Given the description of an element on the screen output the (x, y) to click on. 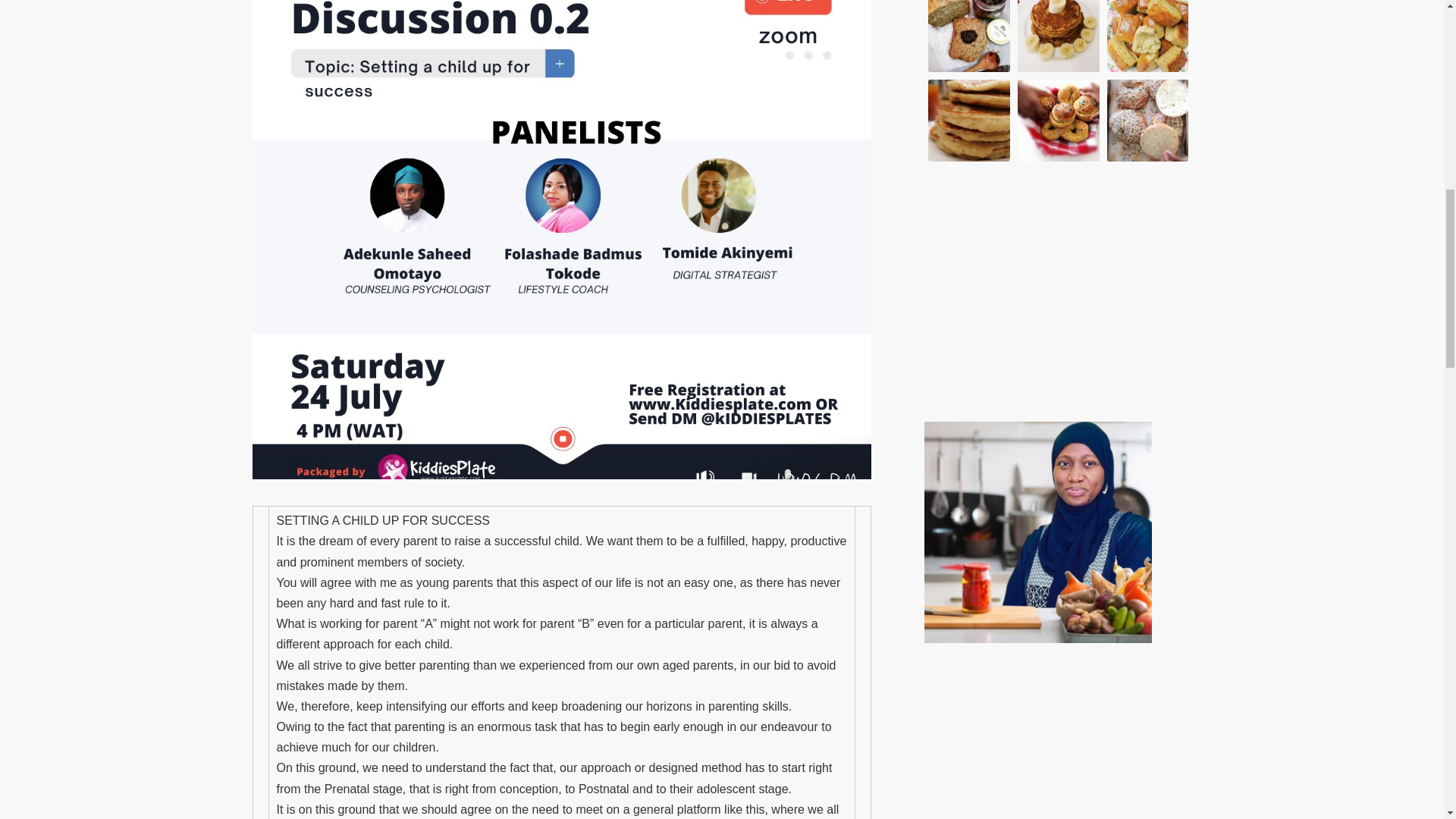
Advertisement (1061, 278)
Advertisement (1061, 749)
